Given the description of an element on the screen output the (x, y) to click on. 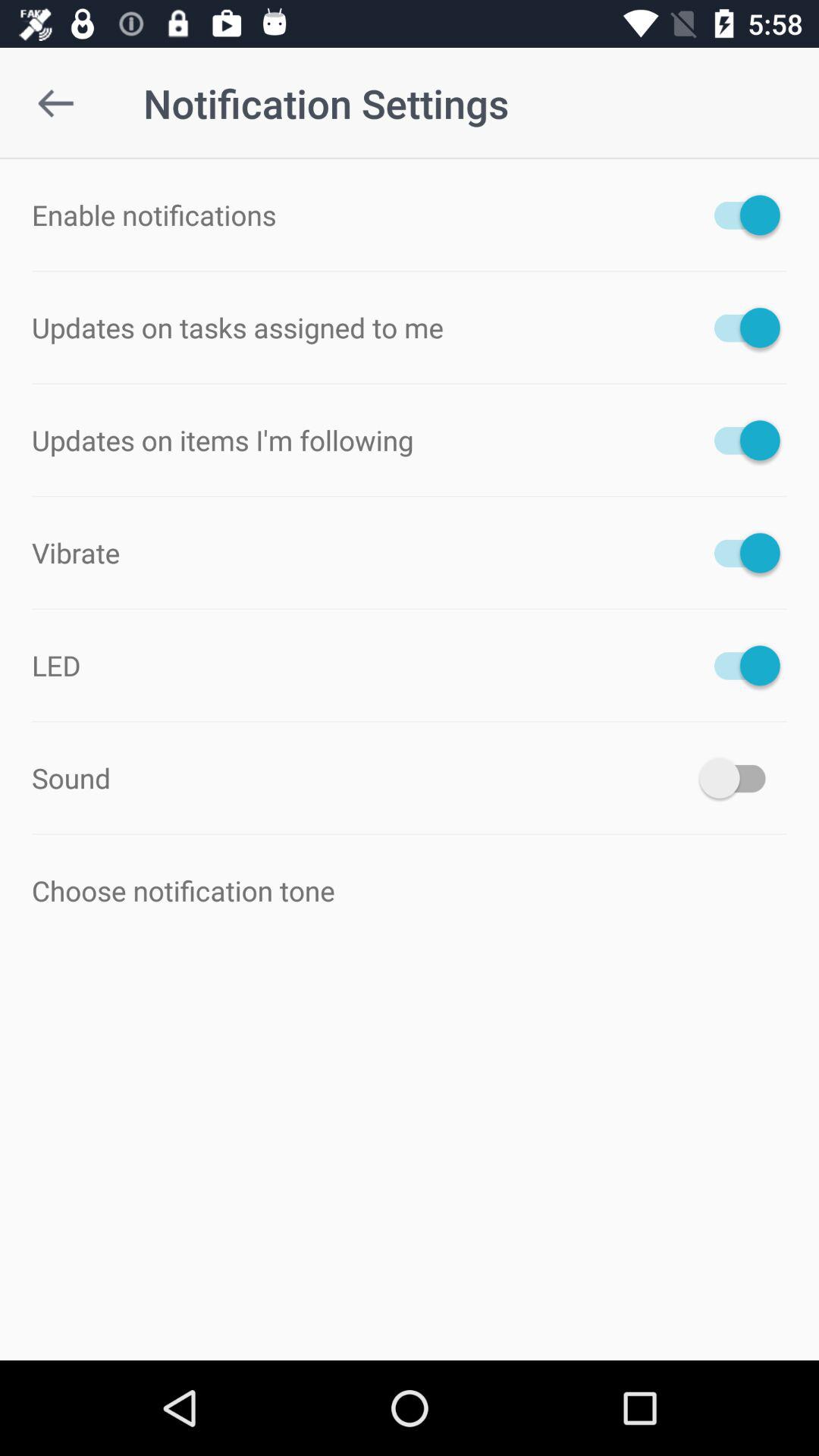
toggle button to turn led light on (739, 665)
